Given the description of an element on the screen output the (x, y) to click on. 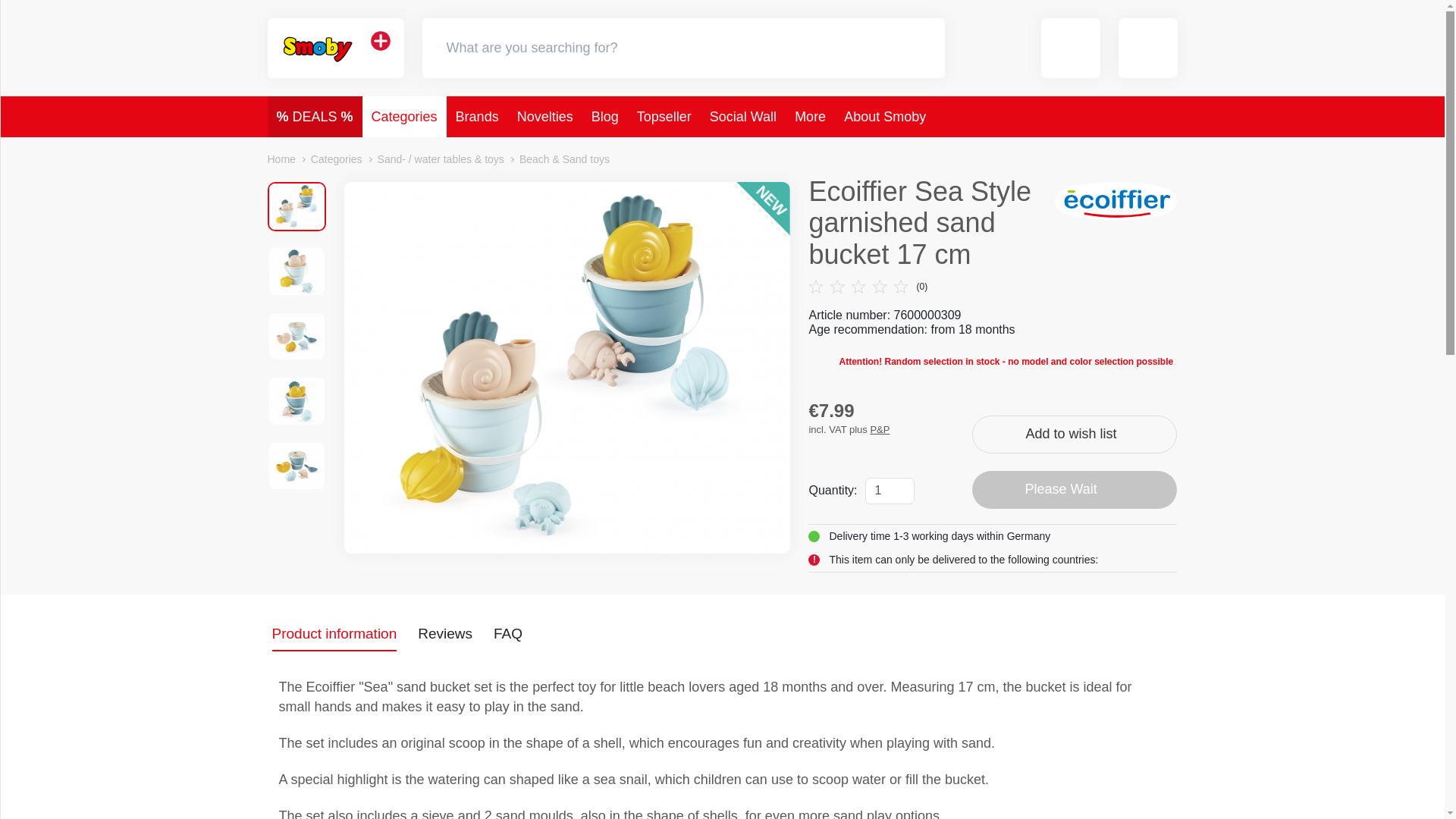
DEALS (313, 116)
Login (1147, 47)
Categories (404, 116)
DEALS (313, 116)
Categories (404, 116)
